Given the description of an element on the screen output the (x, y) to click on. 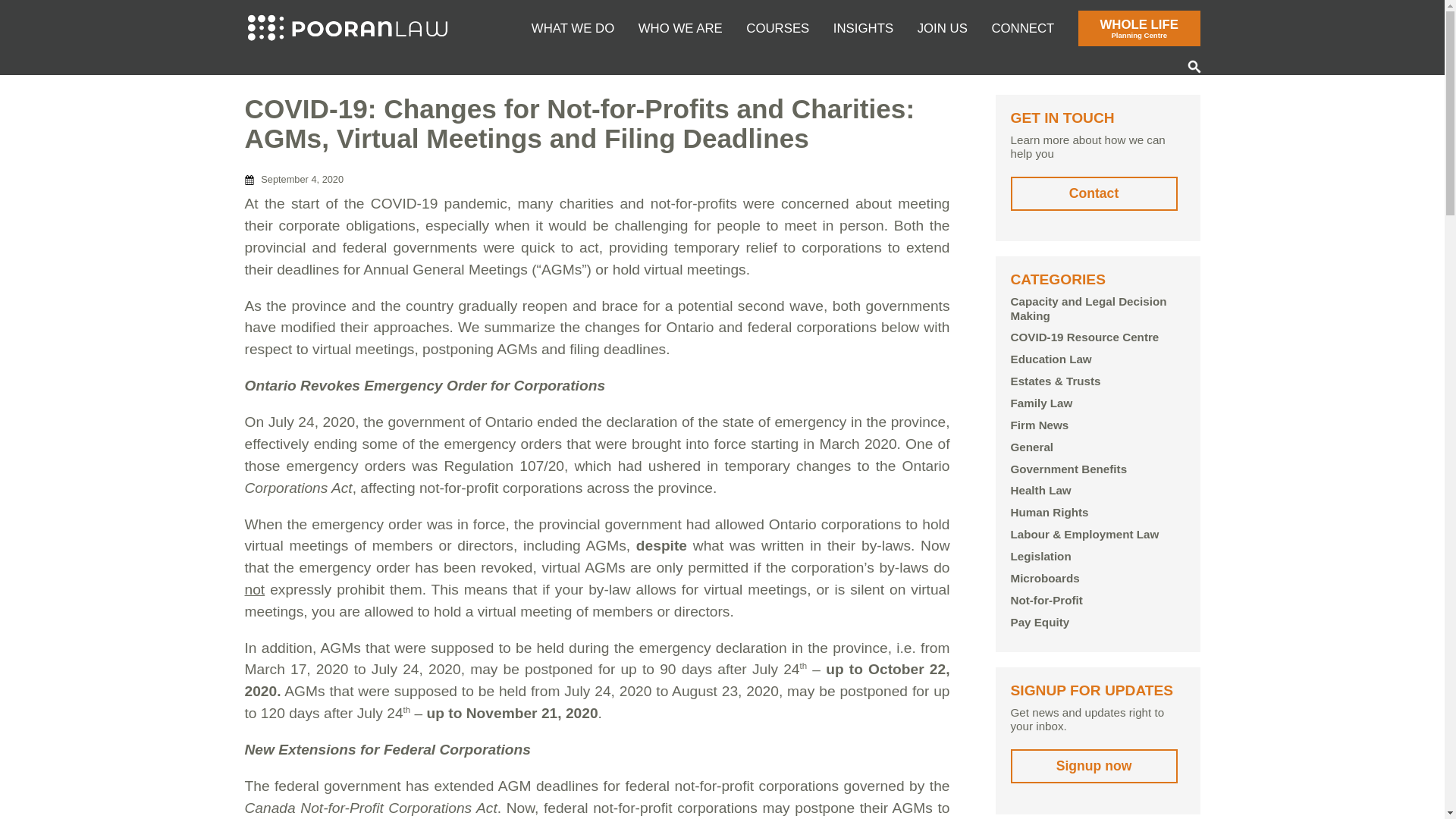
COURSES (777, 24)
INSIGHTS (862, 24)
WHAT WE DO (572, 24)
Search (1193, 66)
WHO WE ARE (680, 24)
CONNECT (1022, 24)
JOIN US (1138, 27)
